Given the description of an element on the screen output the (x, y) to click on. 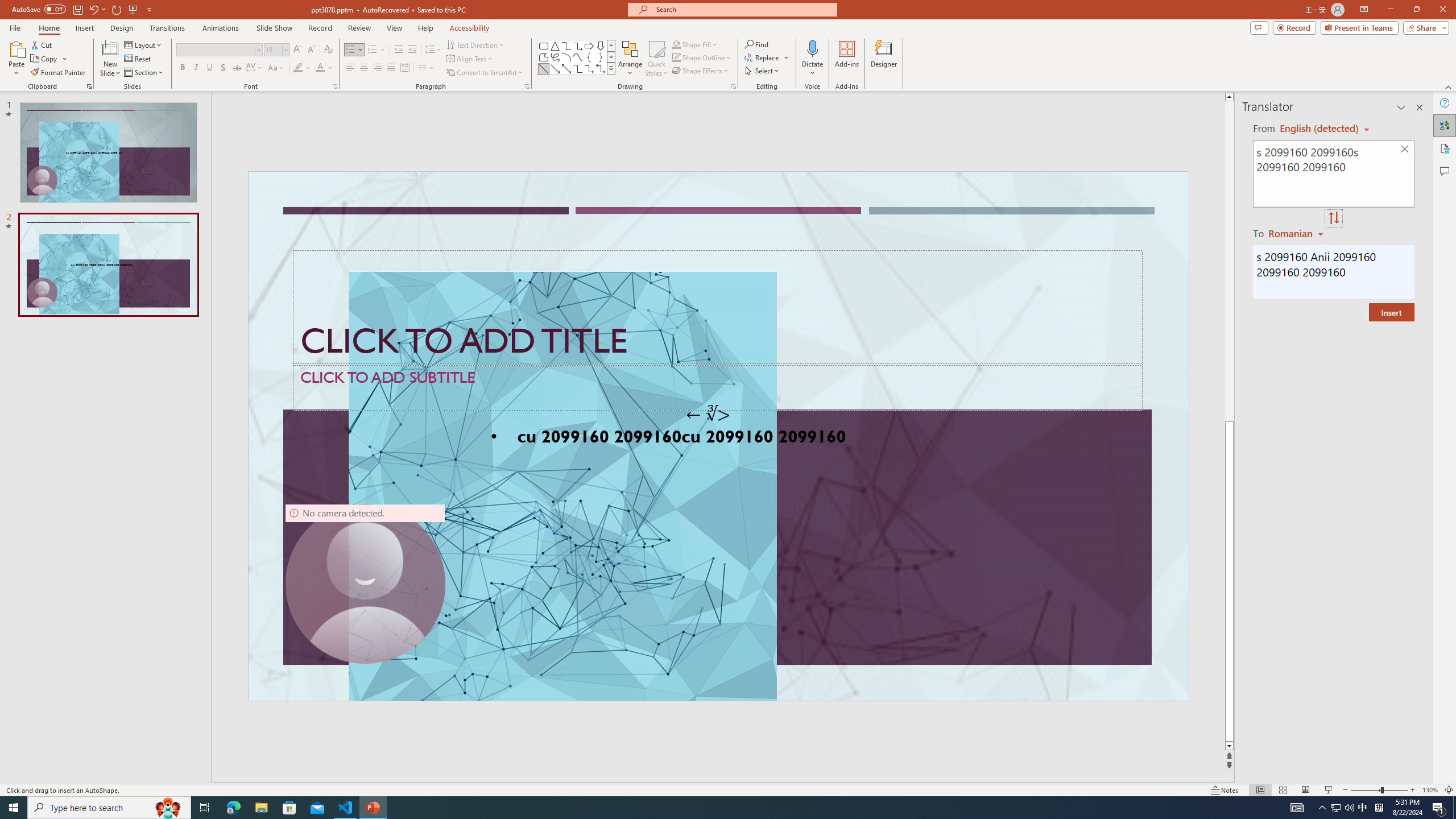
TextBox 61 (716, 438)
